Given the description of an element on the screen output the (x, y) to click on. 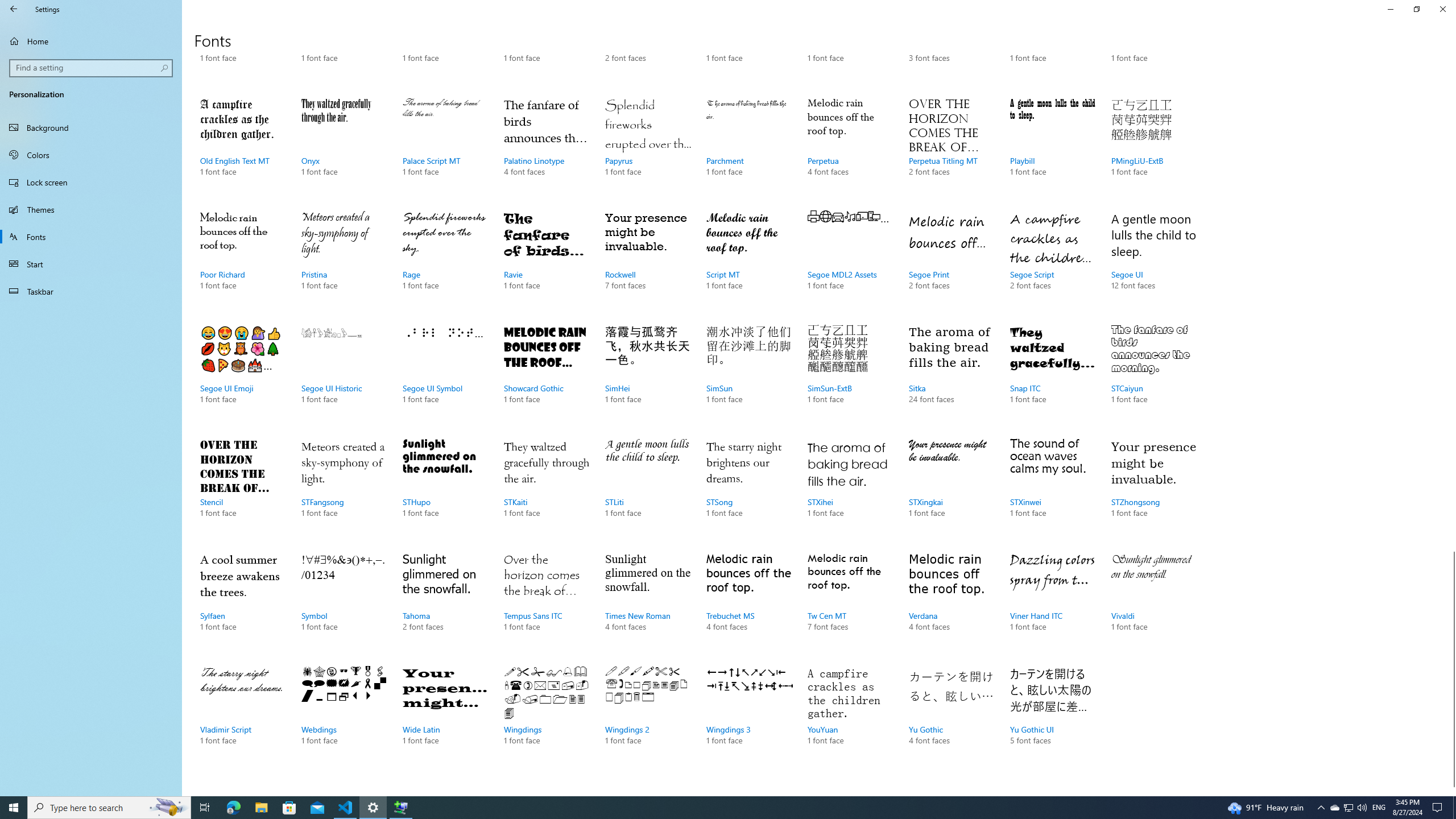
SimSun, 1 font face (748, 375)
Wingdings 3, 1 font face (748, 716)
Niagara Engraved, 1 font face (748, 45)
Trebuchet MS, 4 font faces (748, 603)
Action Center, No new notifications (1439, 807)
Verdana, 4 font faces (951, 603)
Old English Text MT, 1 font face (243, 148)
Viner Hand ITC, 1 font face (1052, 603)
Tray Input Indicator - English (United States) (1378, 807)
Papyrus, 1 font face (647, 148)
Microsoft Edge (233, 807)
SimHei, 1 font face (647, 375)
Lock screen (91, 181)
Perpetua, 4 font faces (850, 148)
Fonts (91, 236)
